Given the description of an element on the screen output the (x, y) to click on. 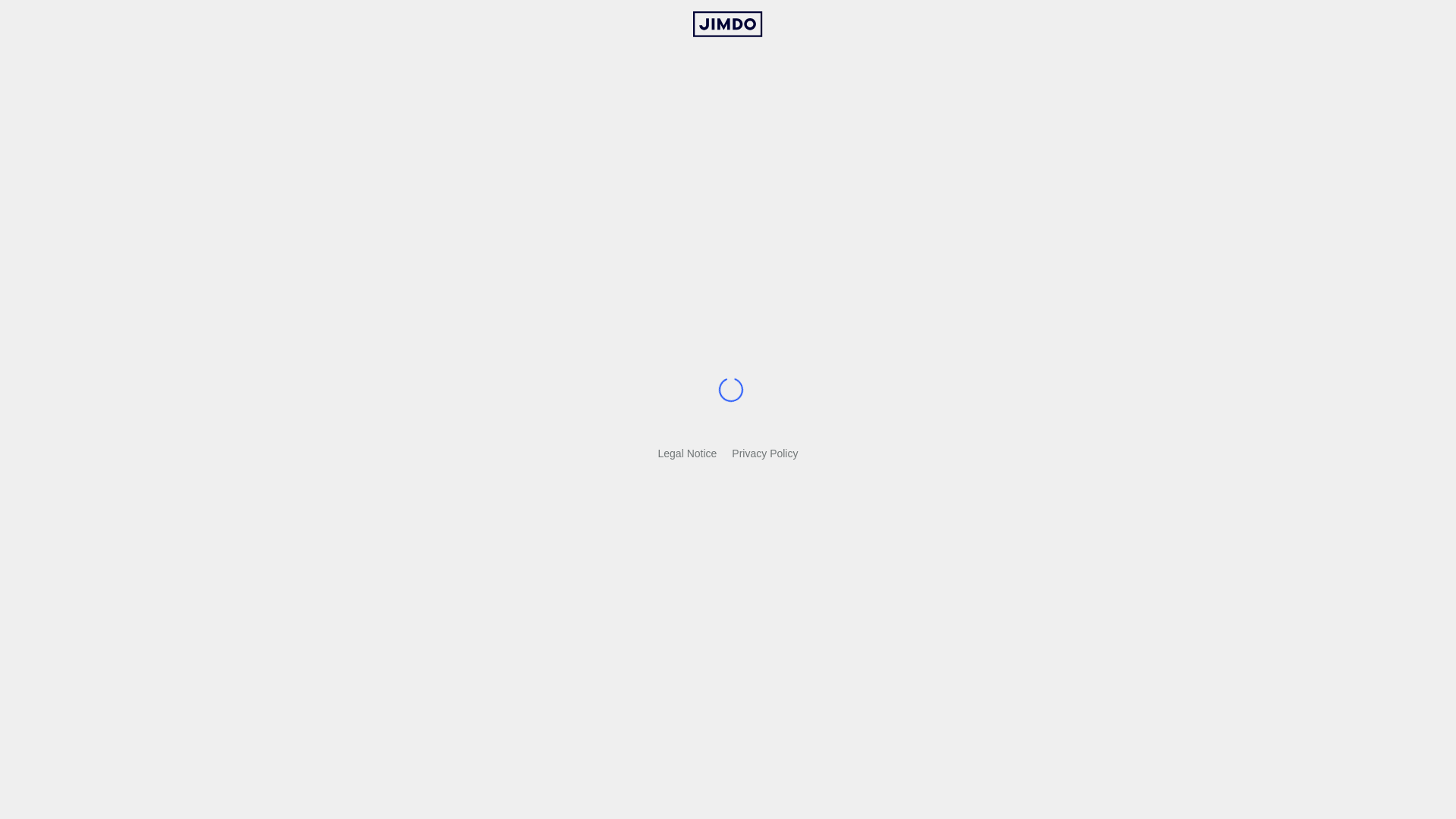
Privacy Policy Element type: text (764, 453)
Legal Notice Element type: text (687, 453)
